Given the description of an element on the screen output the (x, y) to click on. 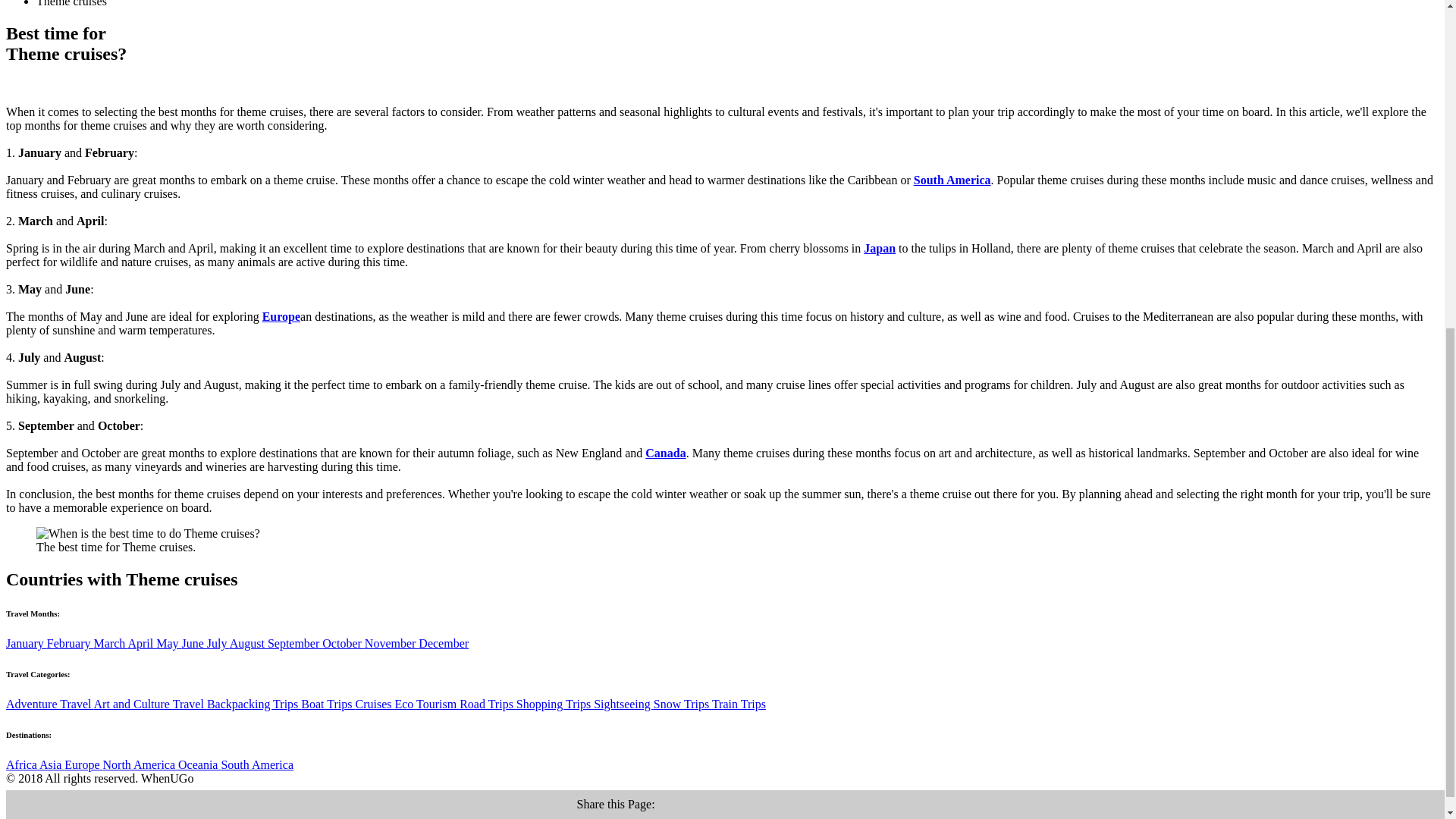
Japan (879, 247)
Europe (280, 316)
South America (952, 179)
